Given the description of an element on the screen output the (x, y) to click on. 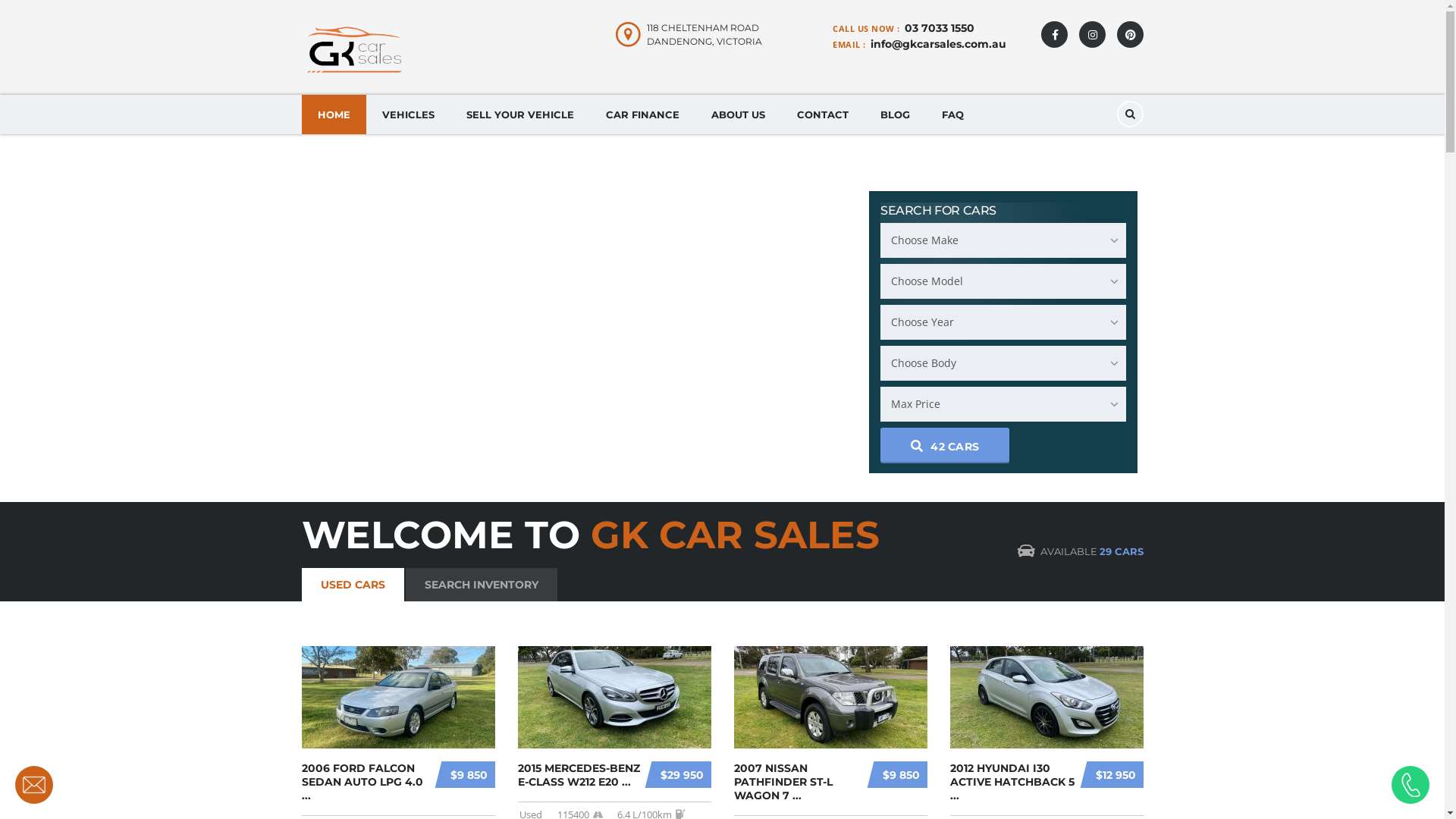
SELL YOUR VEHICLE Element type: text (519, 114)
VEHICLES Element type: text (407, 114)
FAQ Element type: text (952, 114)
BLOG Element type: text (894, 114)
USED CARS Element type: text (352, 584)
Home Element type: hover (353, 48)
SEARCH FOR CARS Element type: text (938, 210)
42 CARS Element type: text (944, 444)
CONTACT Element type: text (822, 114)
03 7033 1550 Element type: text (938, 27)
HOME Element type: text (333, 114)
ABOUT US Element type: text (737, 114)
info@gkcarsales.com.au Element type: text (938, 43)
SEARCH INVENTORY Element type: text (480, 584)
CAR FINANCE Element type: text (642, 114)
